Given the description of an element on the screen output the (x, y) to click on. 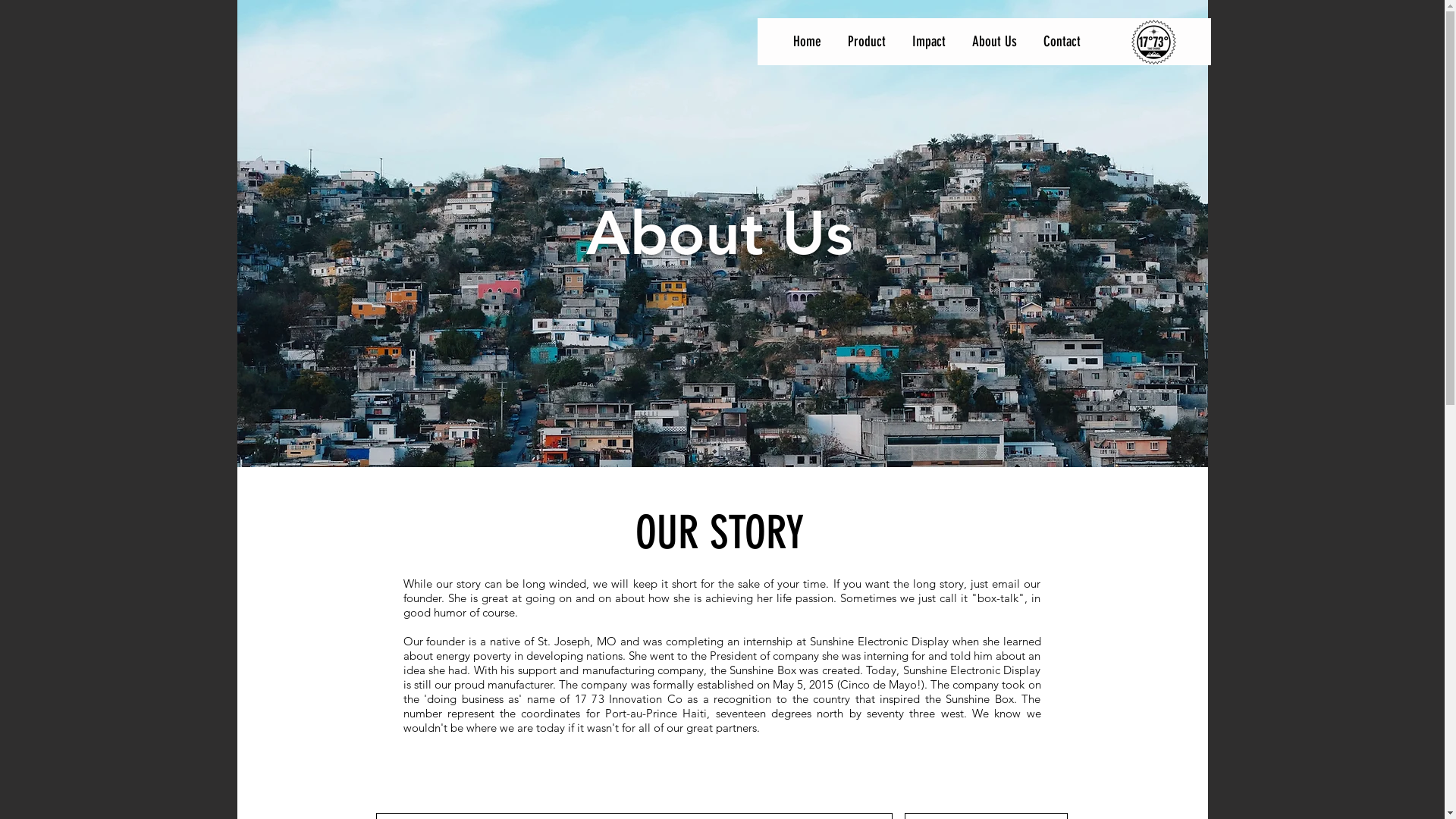
Contact Element type: text (1061, 40)
About Us Element type: text (993, 40)
Product Element type: text (866, 40)
Home Element type: text (806, 40)
Impact Element type: text (929, 40)
